Given the description of an element on the screen output the (x, y) to click on. 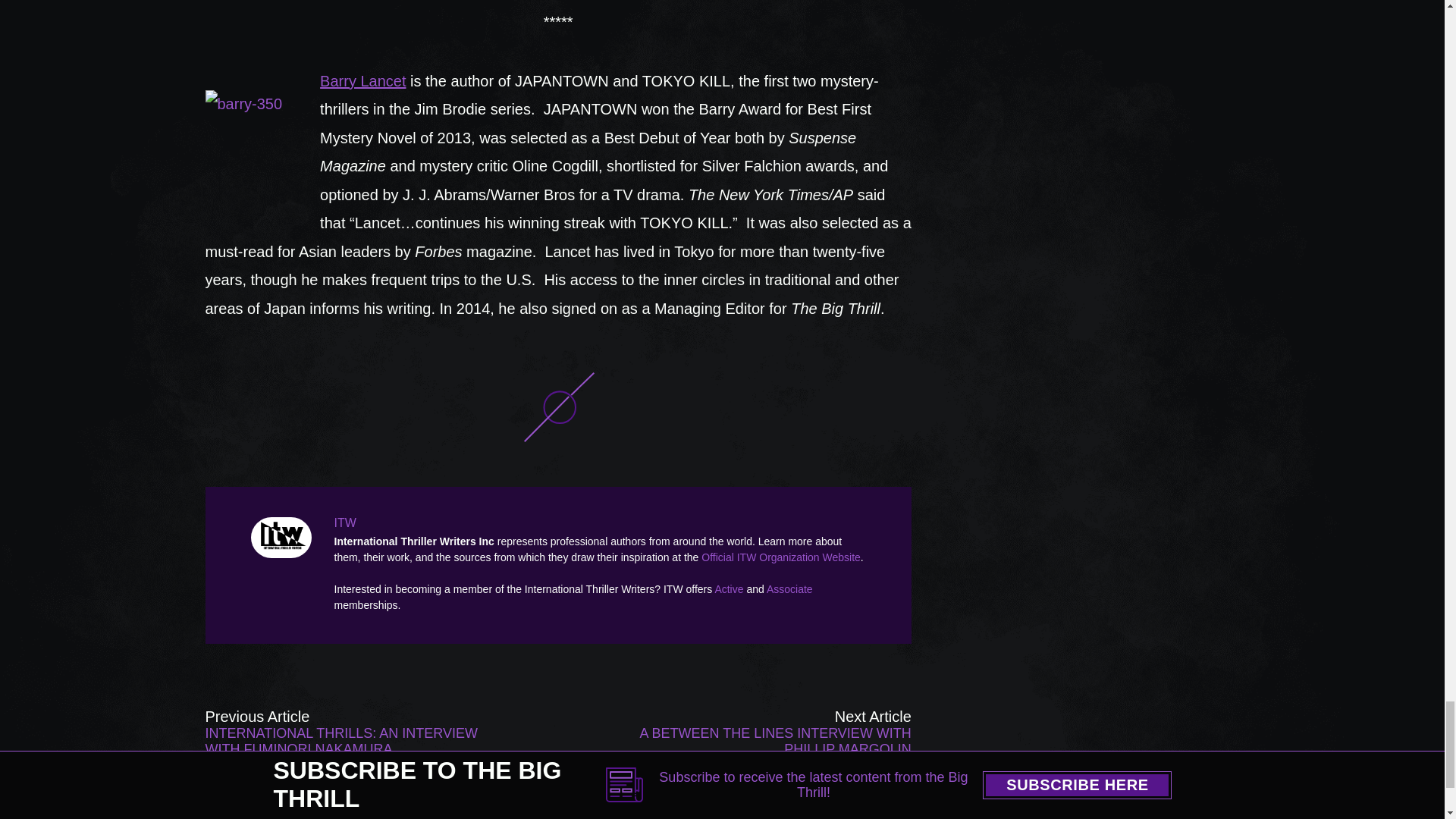
International Thrills:  An Interview with Fuminori Nakamura (346, 732)
ITW (284, 536)
A Between the Lines Interview with Phillip Margolin (769, 732)
